Given the description of an element on the screen output the (x, y) to click on. 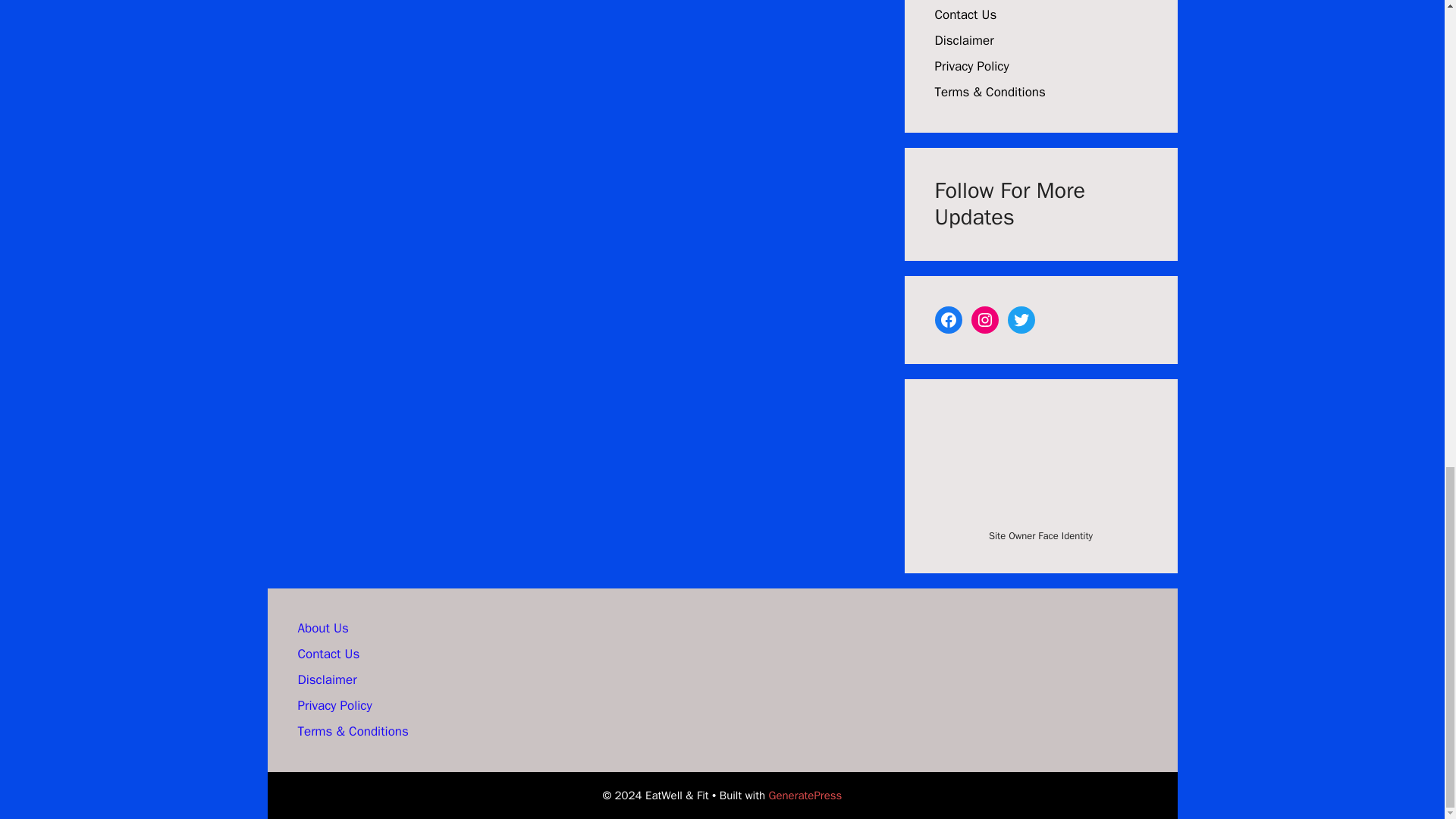
Privacy Policy (334, 705)
Instagram (984, 319)
Contact Us (328, 653)
About Us (322, 627)
Facebook (947, 319)
Disclaimer (326, 679)
Contact Us (964, 14)
Privacy Policy (971, 66)
Twitter (1020, 319)
GeneratePress (805, 795)
Scroll back to top (1406, 444)
Disclaimer (963, 40)
